Given the description of an element on the screen output the (x, y) to click on. 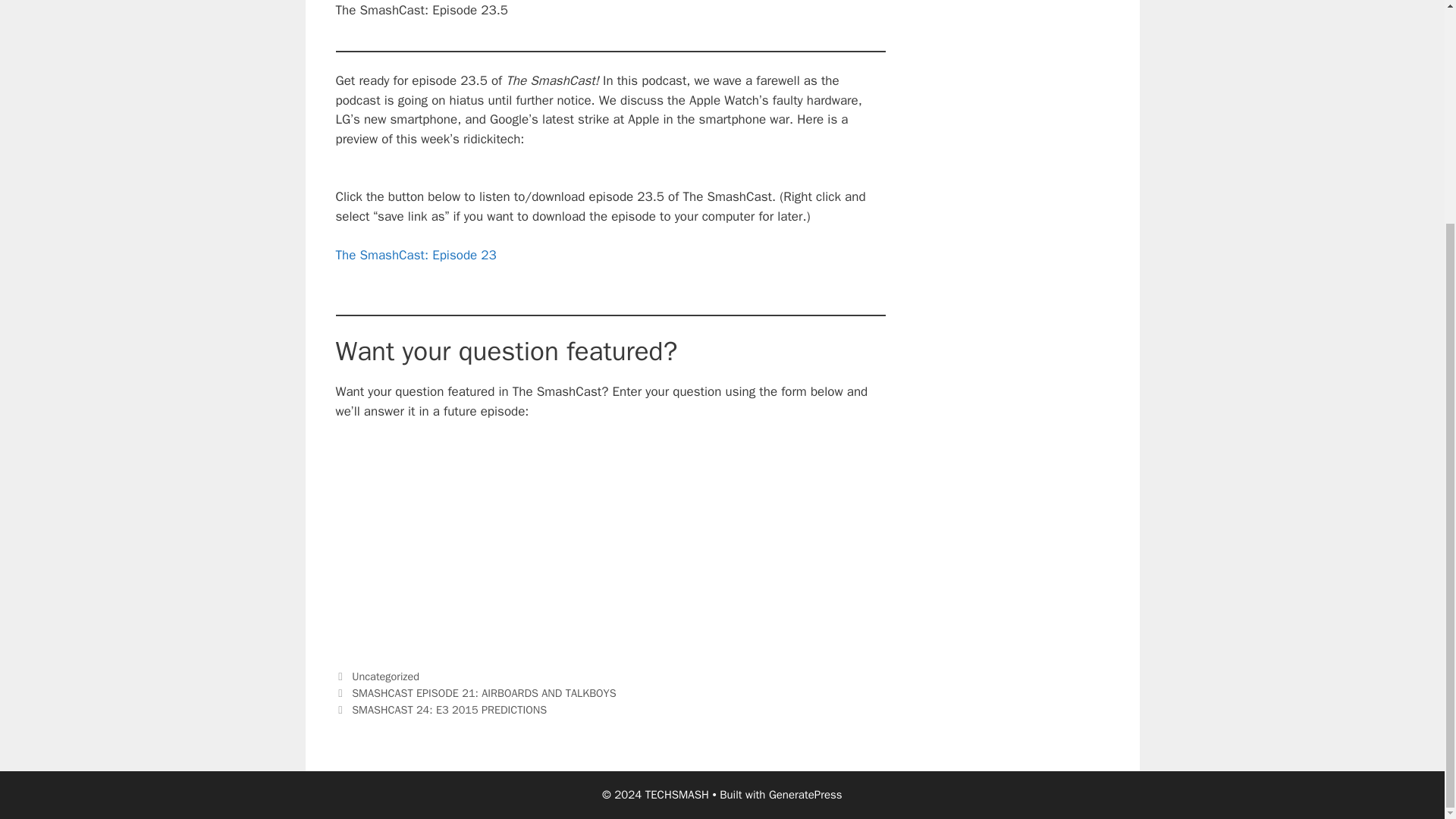
SMASHCAST EPISODE 21: AIRBOARDS AND TALKBOYS (483, 693)
Uncategorized (385, 676)
SMASHCAST 24: E3 2015 PREDICTIONS (449, 709)
GeneratePress (805, 794)
The SmashCast: Episode 23 (415, 254)
